Given the description of an element on the screen output the (x, y) to click on. 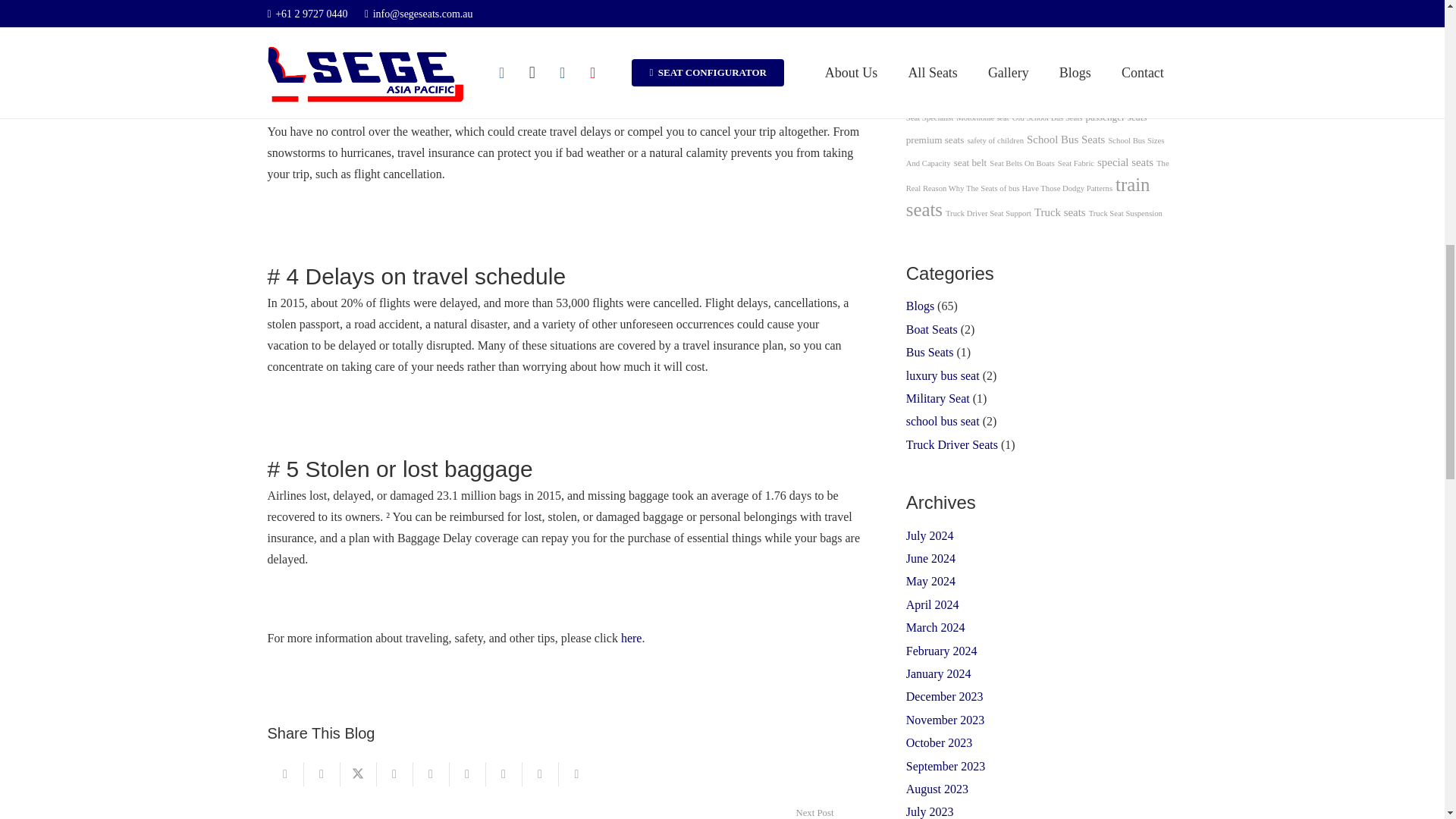
here (631, 637)
Share this (466, 774)
Email this (284, 774)
Tweet this (357, 774)
Where to Find Best Bus Seats in Sydney (414, 812)
Pin this (430, 774)
Share this (393, 774)
Share this (539, 774)
Share this (575, 774)
Share this (320, 774)
Share this (502, 774)
